Given the description of an element on the screen output the (x, y) to click on. 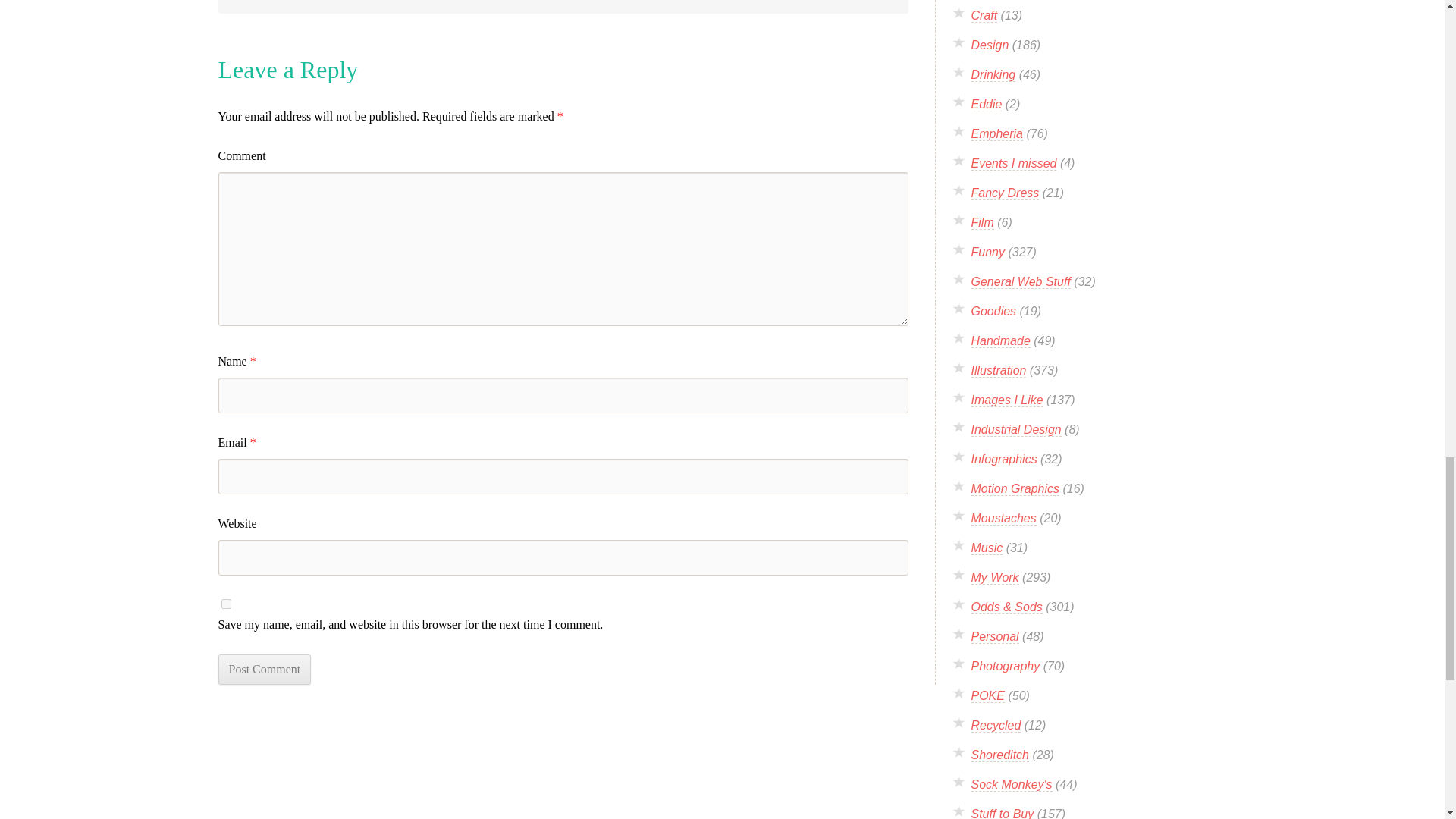
Post Comment (264, 669)
Post Comment (264, 669)
yes (226, 603)
